Given the description of an element on the screen output the (x, y) to click on. 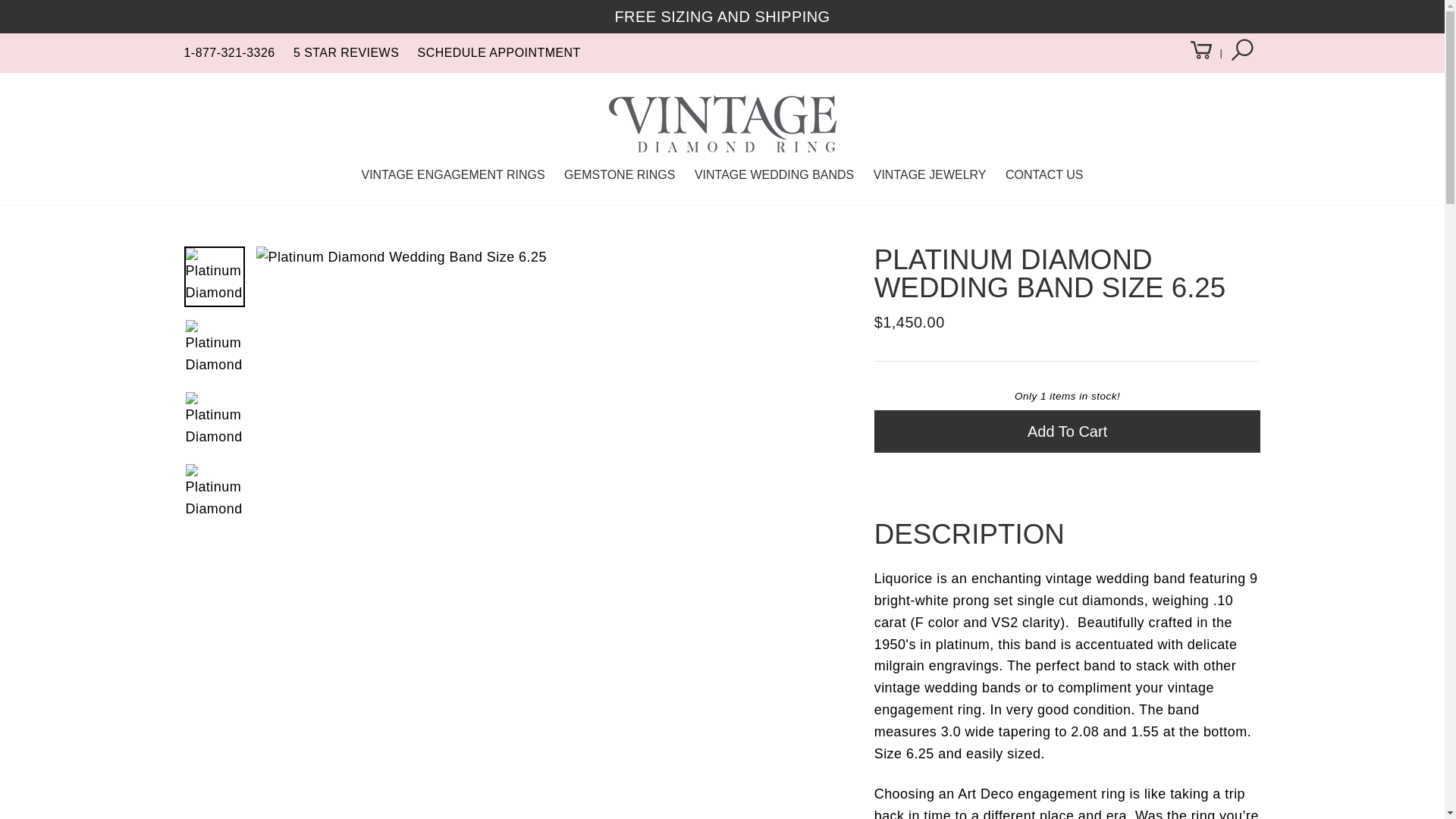
1-877-321-3326 (229, 52)
VINTAGE ENGAGEMENT RINGS (452, 174)
SCHEDULE APPOINTMENT (499, 52)
VINTAGE WEDDING BANDS (774, 174)
VINTAGE JEWELRY (930, 174)
5 STAR REVIEWS (345, 52)
GEMSTONE RINGS (619, 174)
